Given the description of an element on the screen output the (x, y) to click on. 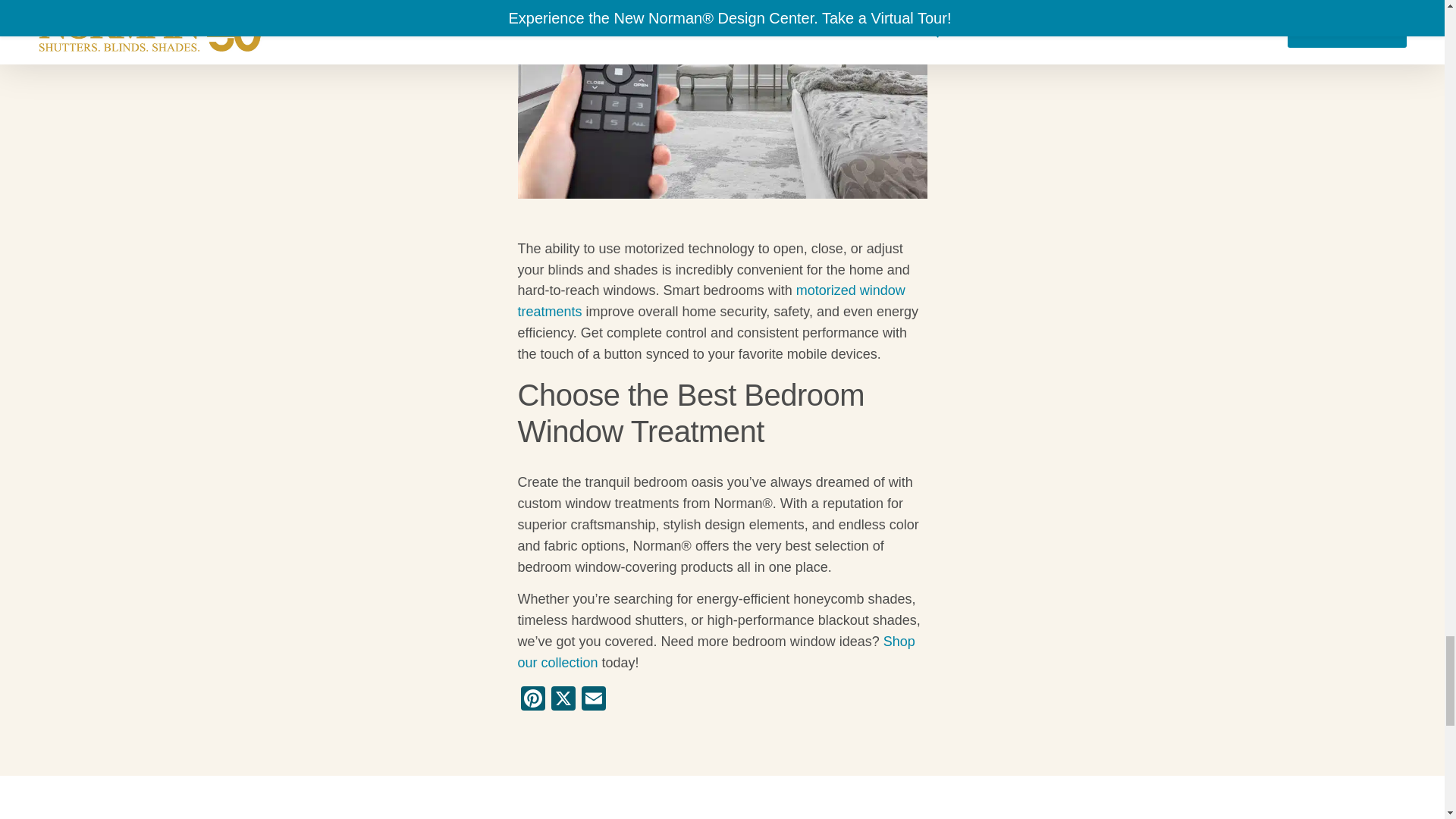
Pinterest (531, 700)
X (562, 700)
Email (593, 700)
